Given the description of an element on the screen output the (x, y) to click on. 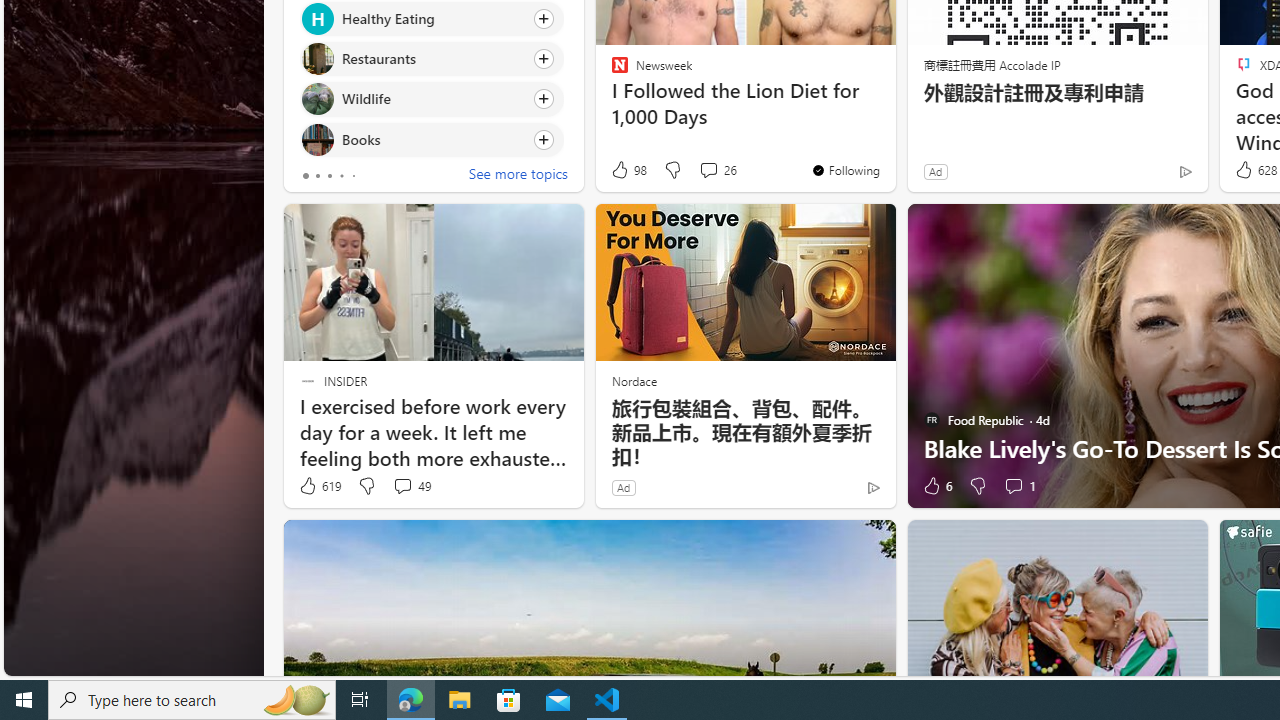
tab-1 (317, 175)
Restaurants (317, 59)
tab-0 (305, 175)
Books (317, 139)
Wildlife (317, 98)
View comments 49 Comment (411, 485)
Click to follow topic Wildlife (431, 99)
6 Like (936, 485)
View comments 49 Comment (402, 485)
619 Like (319, 485)
tab-3 (341, 175)
You're following Newsweek (845, 169)
